Given the description of an element on the screen output the (x, y) to click on. 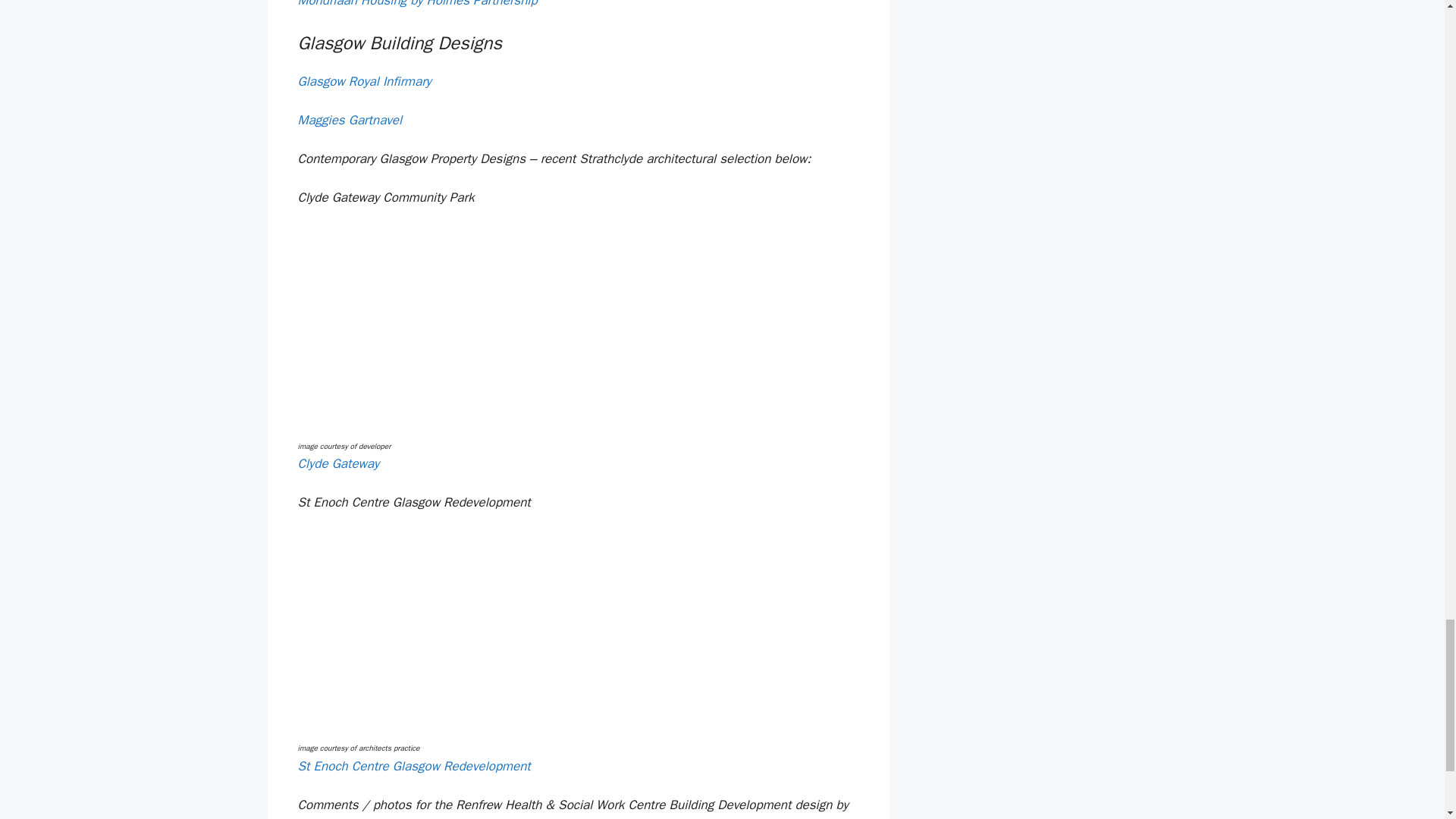
Glasgow Royal Infirmary (363, 81)
Maggies Gartnavel (349, 119)
Mondriaan Housing by Holmes Partnership (417, 4)
Clyde Gateway (337, 463)
St Enoch Centre Glasgow Redevelopment (413, 765)
